Given the description of an element on the screen output the (x, y) to click on. 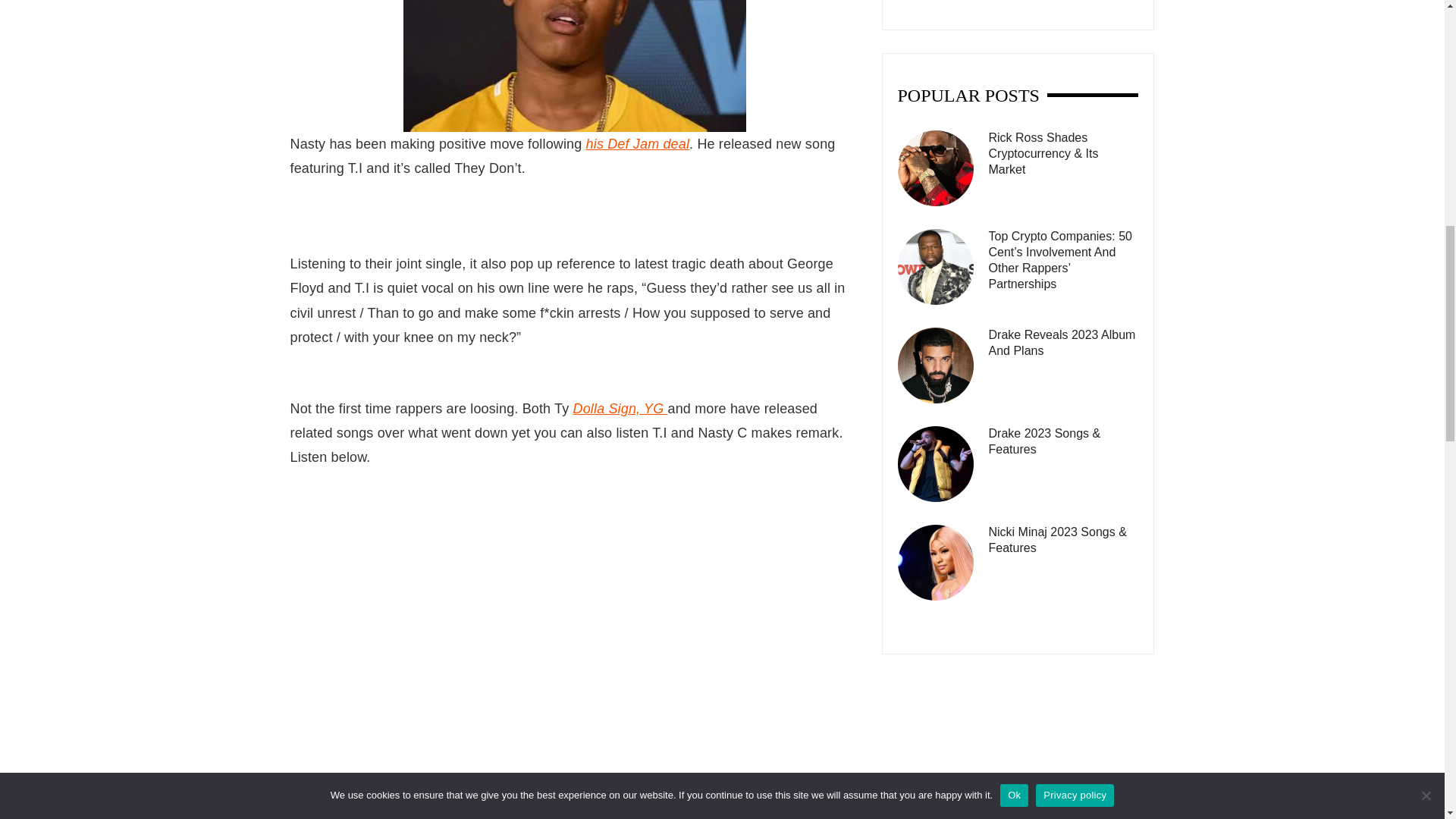
Click to share on Facebook (327, 816)
Click to share on X (393, 816)
Nasty C Shares New Song Feat. T.I "They Don't" - Listen (574, 65)
X (393, 816)
Dolla Sign, YG (620, 408)
his Def Jam deal (637, 143)
Facebook (327, 816)
